Given the description of an element on the screen output the (x, y) to click on. 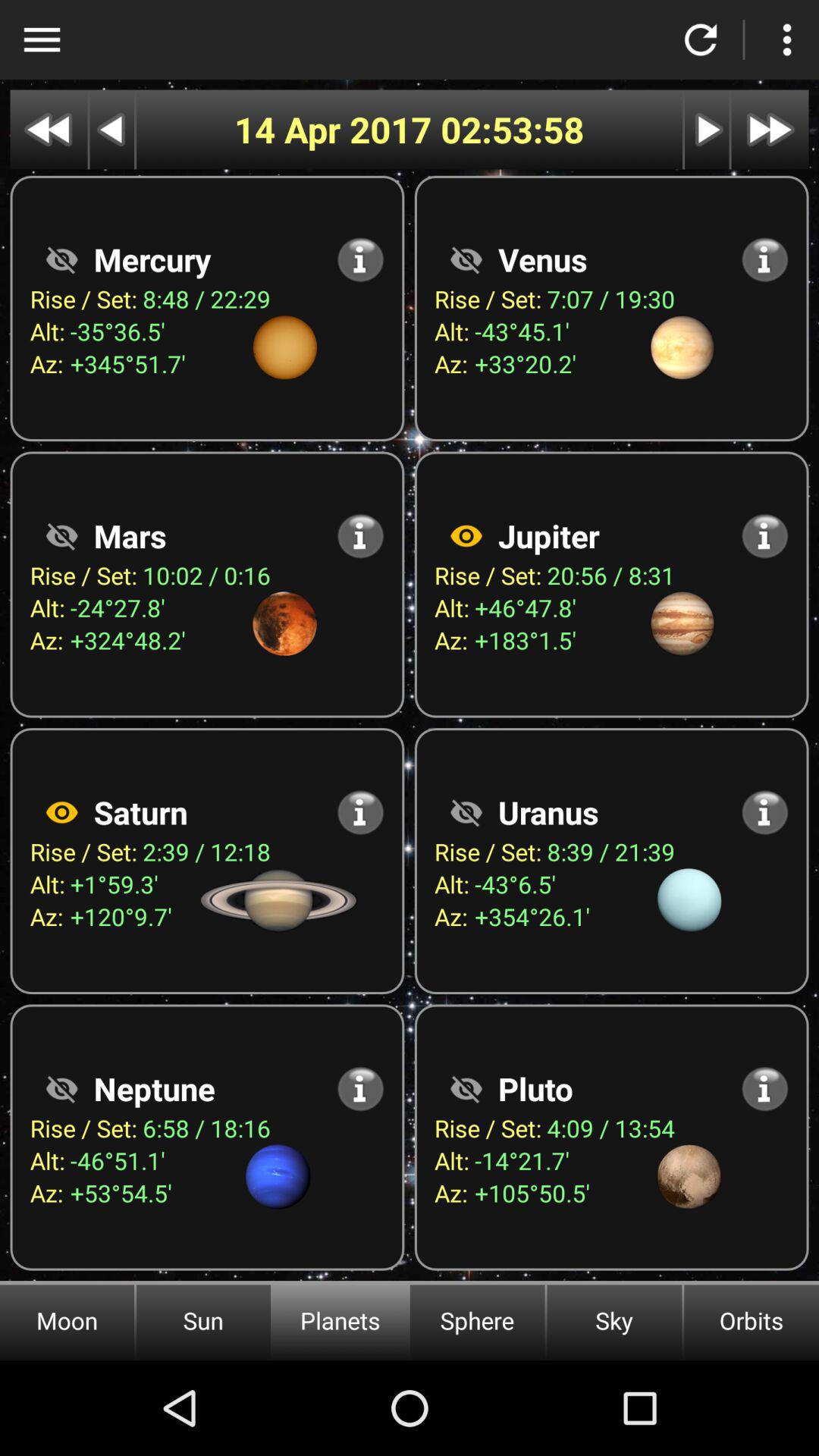
hide tab (466, 259)
